Given the description of an element on the screen output the (x, y) to click on. 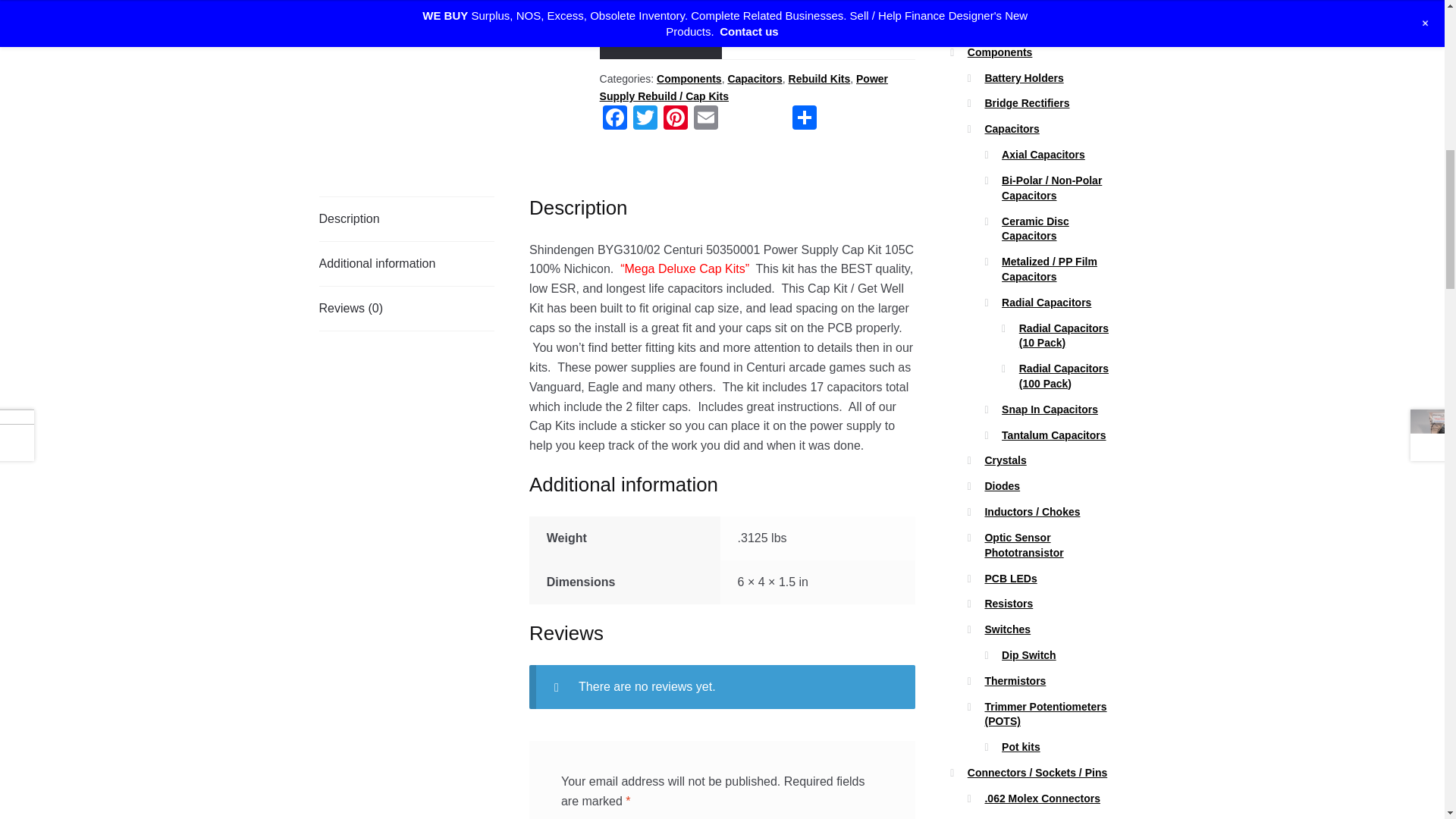
Twitter (645, 119)
Email (705, 119)
Pinterest (675, 119)
Facebook (614, 119)
